Given the description of an element on the screen output the (x, y) to click on. 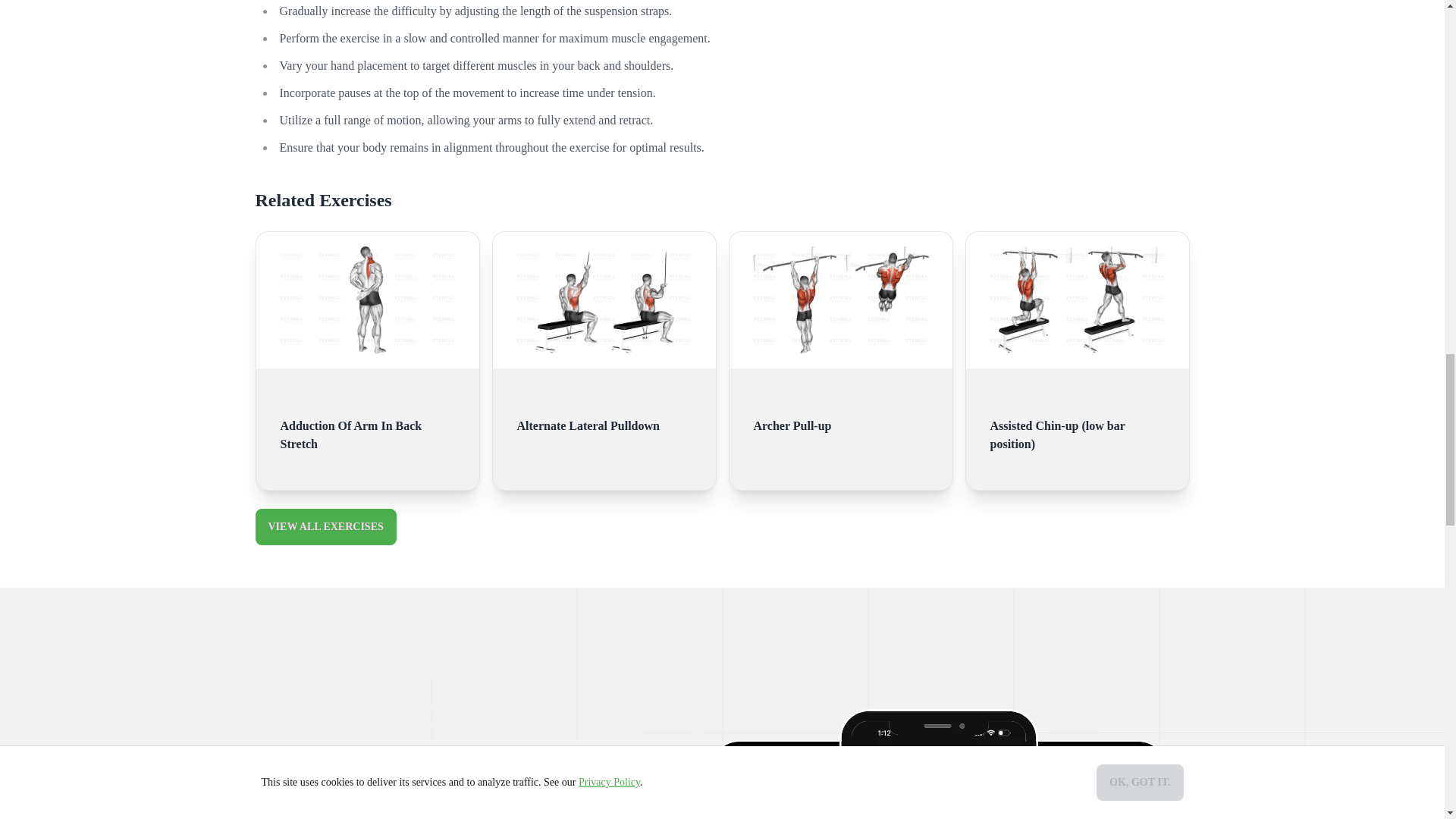
Alternate Lateral Pulldown (603, 420)
VIEW ALL EXERCISES (325, 526)
Archer Pull-up (841, 420)
Adduction Of Arm In Back Stretch (367, 429)
